Given the description of an element on the screen output the (x, y) to click on. 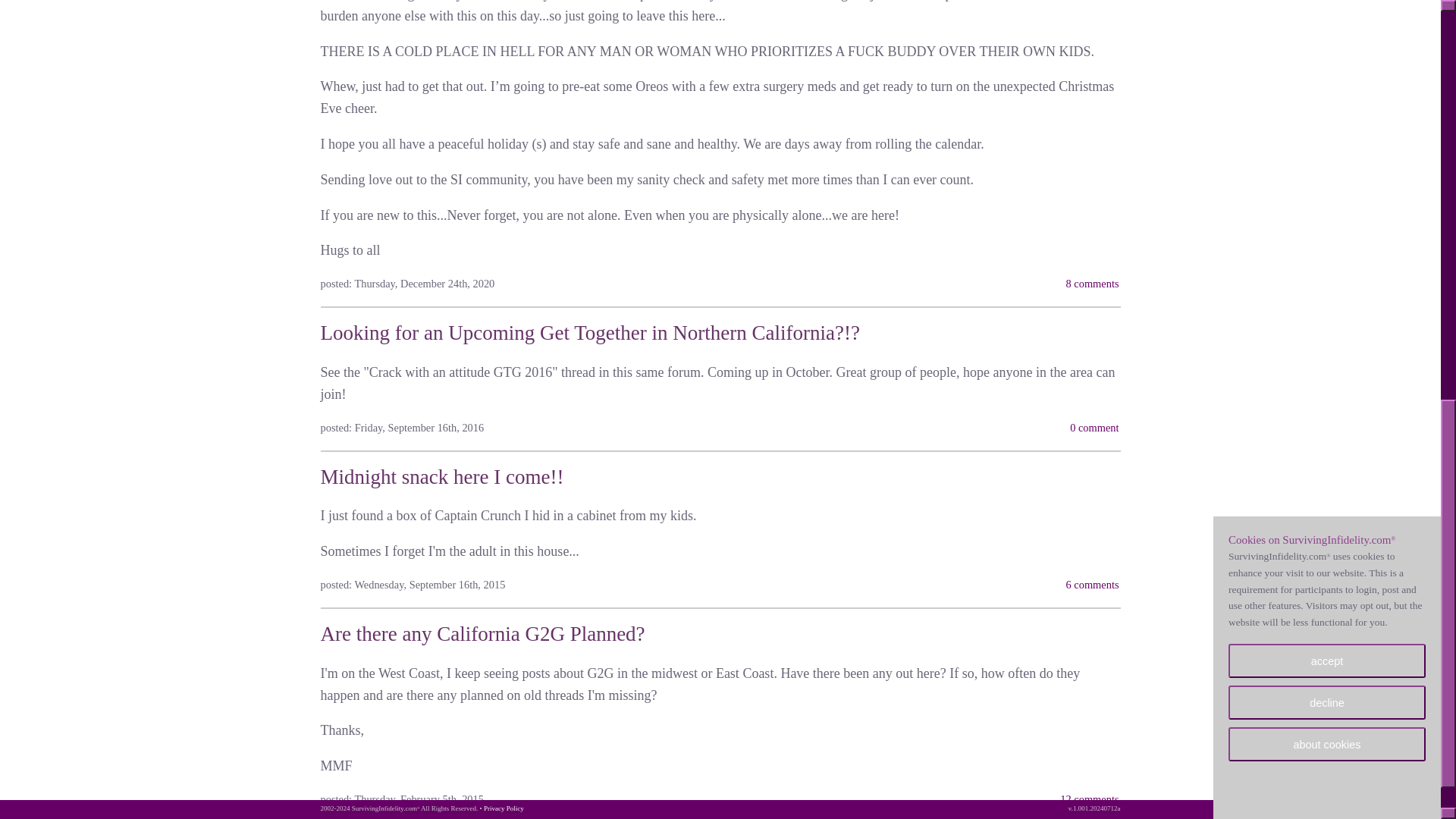
6 comments (1092, 584)
8 comments (1092, 283)
0 comment (1093, 427)
12 comments (1088, 799)
